Given the description of an element on the screen output the (x, y) to click on. 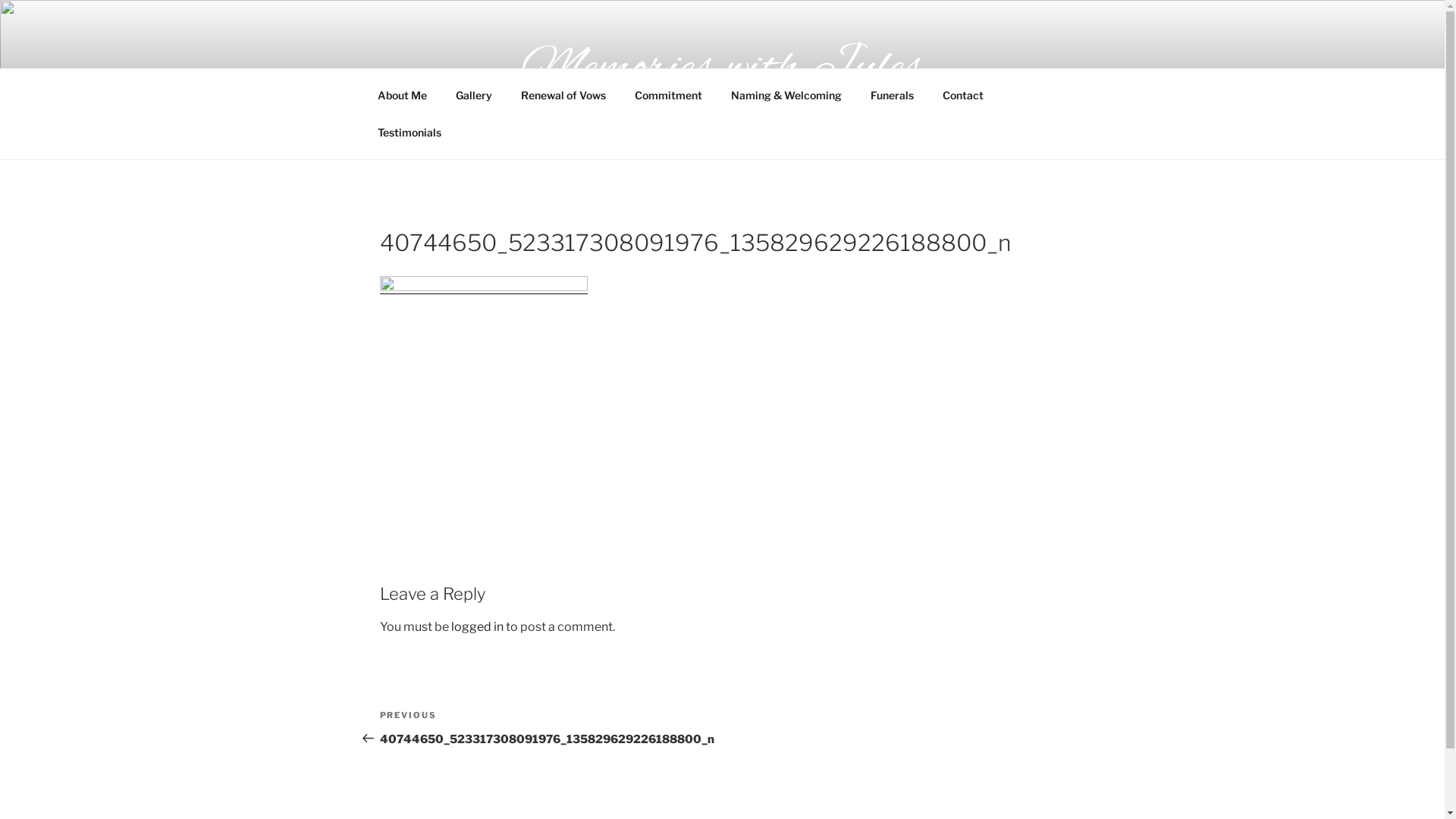
Memories with Jules Element type: text (721, 68)
Testimonials Element type: text (409, 131)
logged in Element type: text (476, 626)
Renewal of Vows Element type: text (563, 94)
Gallery Element type: text (473, 94)
Naming & Welcoming Element type: text (785, 94)
About Me Element type: text (401, 94)
Commitment Element type: text (668, 94)
Funerals Element type: text (891, 94)
Contact Element type: text (963, 94)
